Given the description of an element on the screen output the (x, y) to click on. 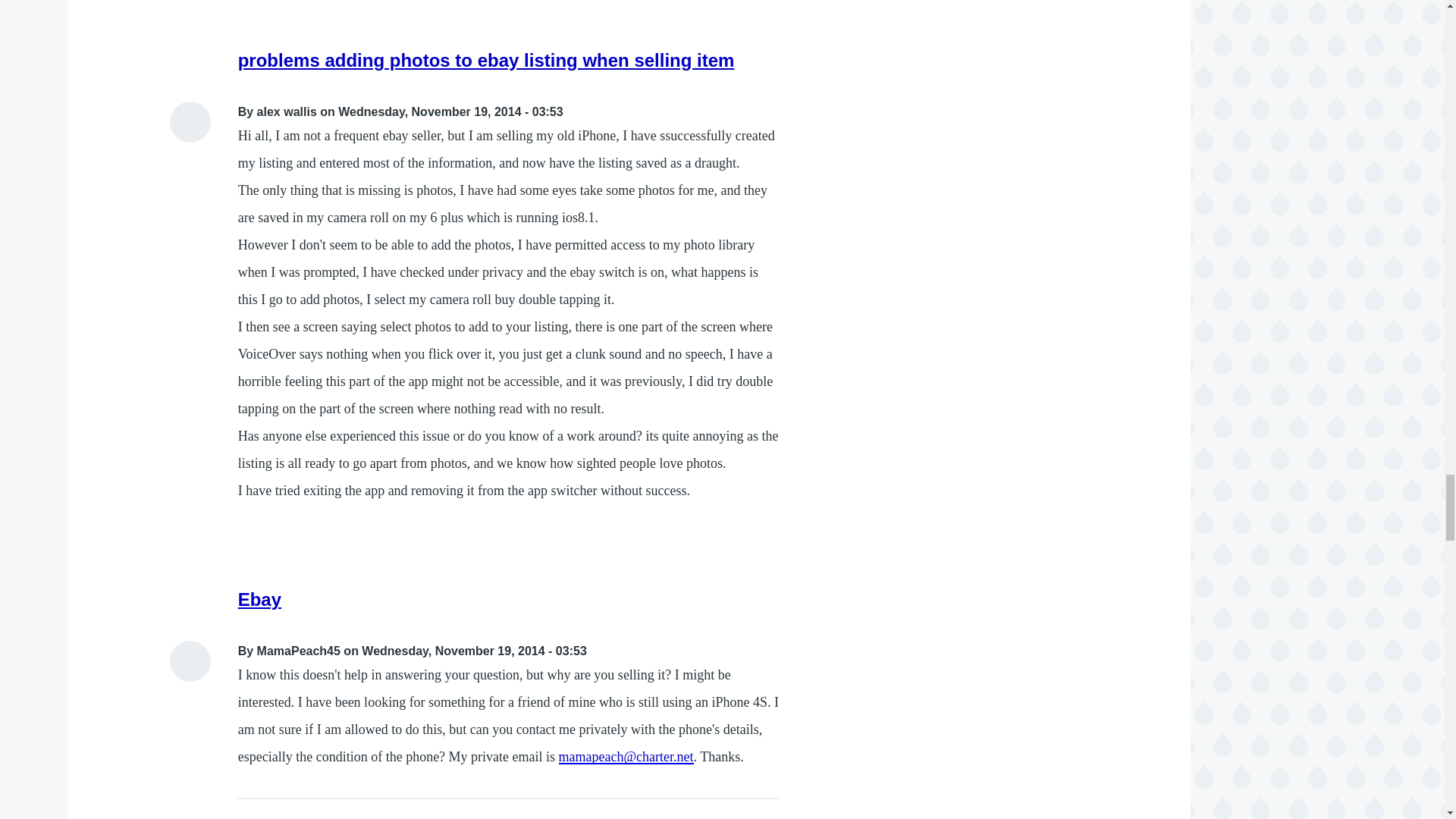
problems adding photos to ebay listing when selling item (486, 59)
Ebay (259, 598)
